Given the description of an element on the screen output the (x, y) to click on. 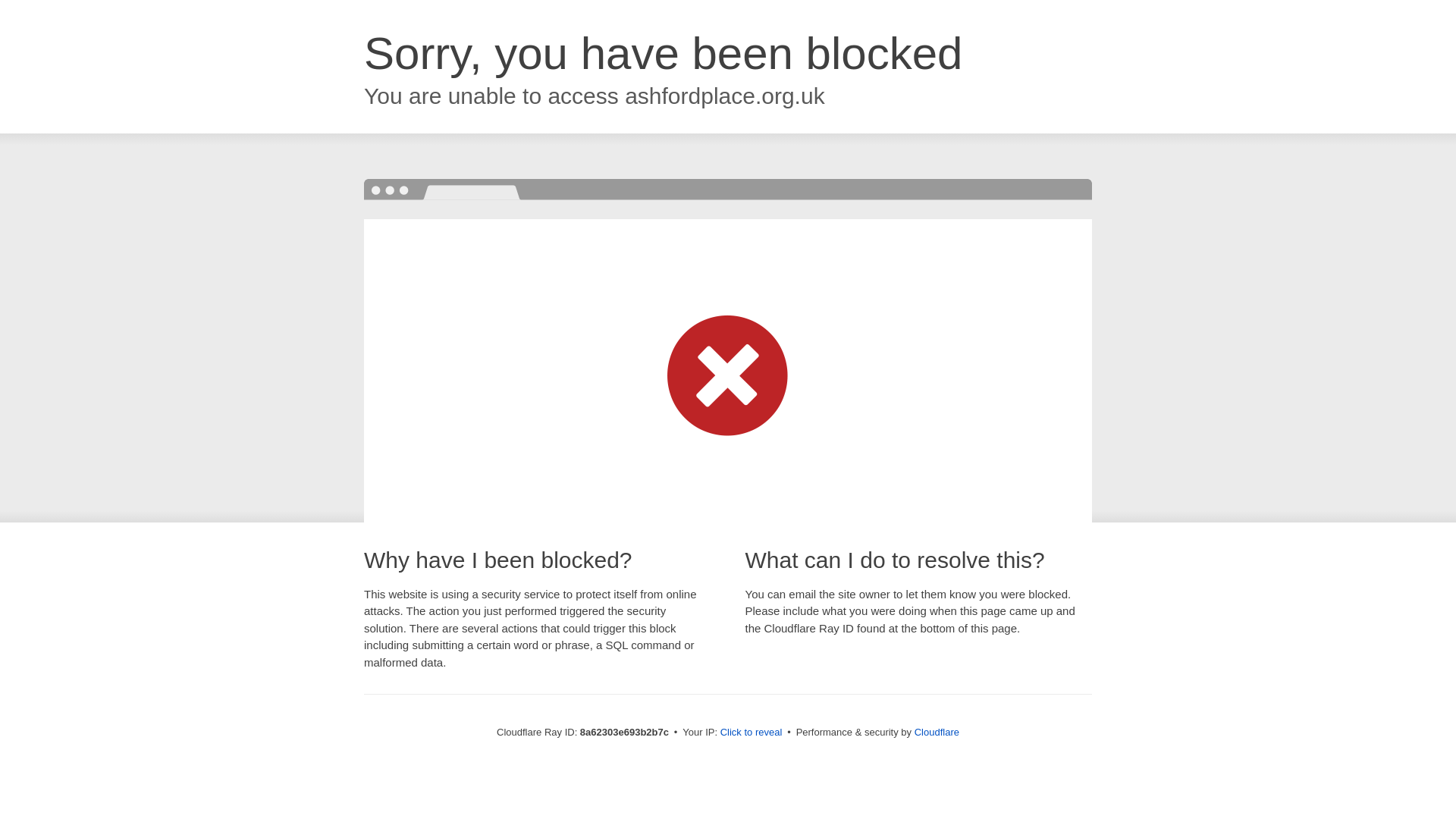
Cloudflare (936, 731)
Click to reveal (751, 732)
